Given the description of an element on the screen output the (x, y) to click on. 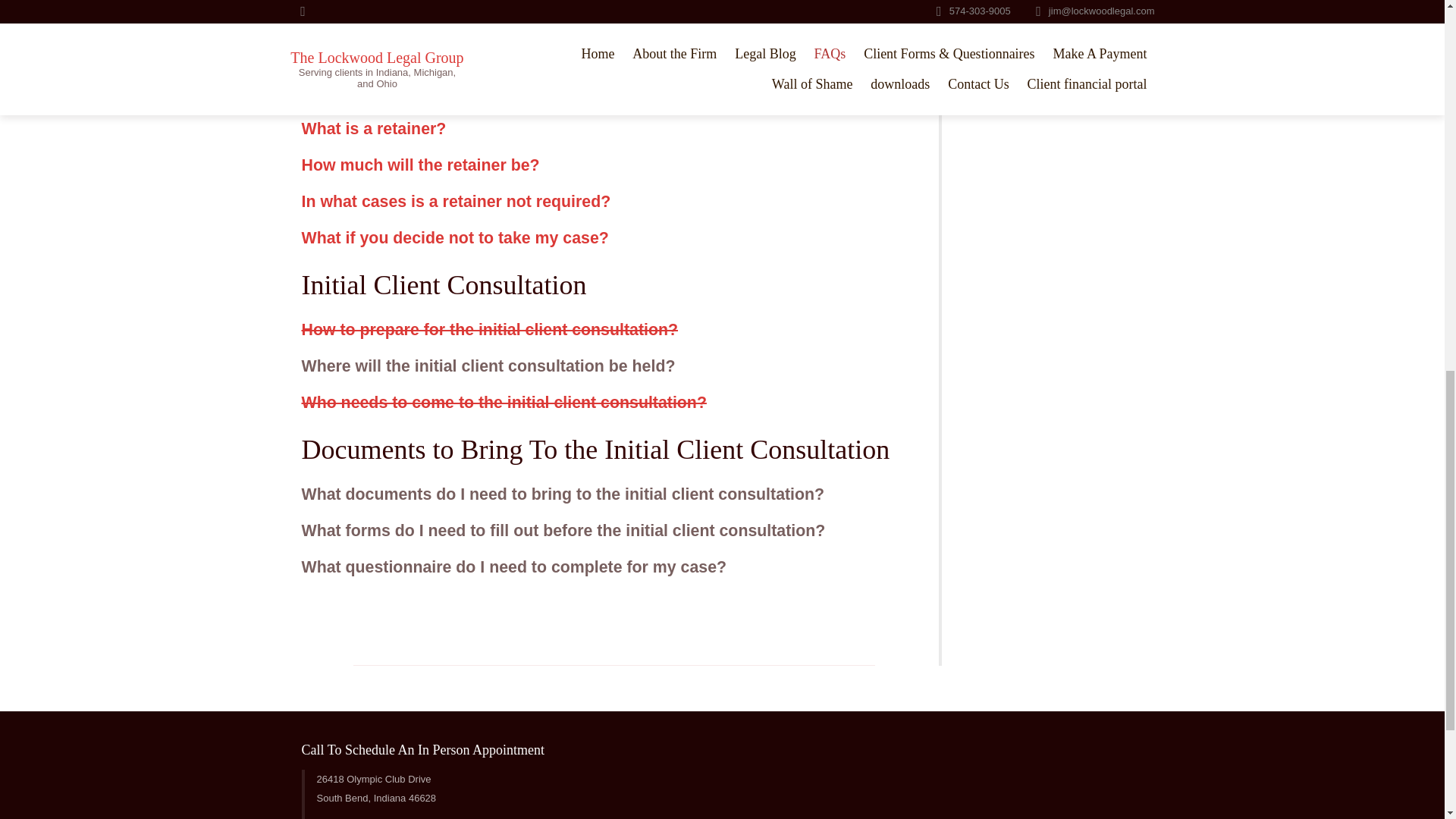
Who needs to come to the initial client consultation? (503, 402)
What is your initial consultation fee? (442, 19)
How much will the retainer be? (420, 165)
What methods of payment to you take? (452, 92)
In what cases is a retainer not required? (456, 201)
How much will it cost to hire your firm? (452, 55)
What is a retainer? (373, 128)
What if you decide not to take my case? (454, 238)
How to prepare for the initial client consultation? (489, 330)
